Given the description of an element on the screen output the (x, y) to click on. 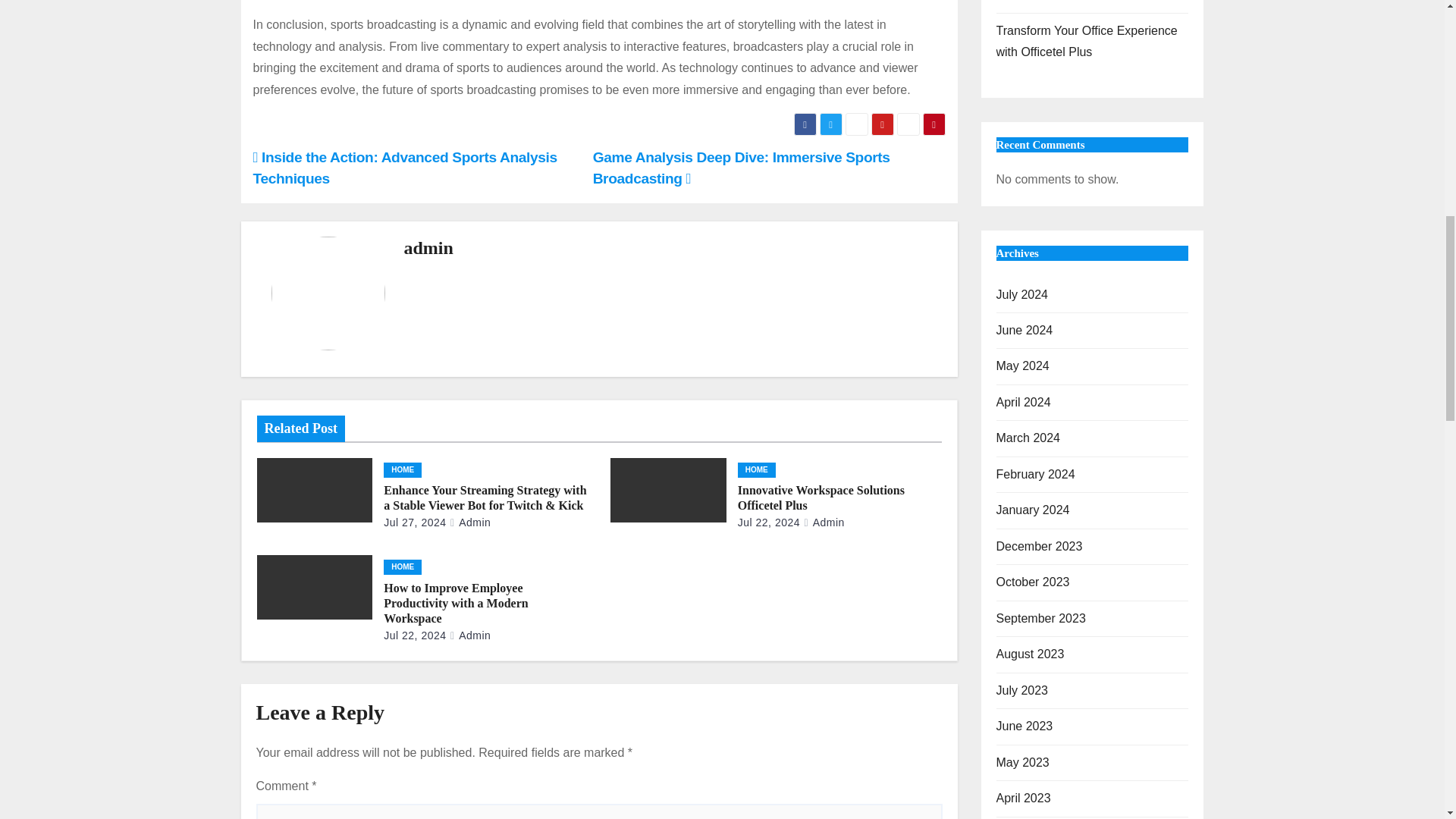
HOME (403, 469)
Inside the Action: Advanced Sports Analysis Techniques (405, 167)
Game Analysis Deep Dive: Immersive Sports Broadcasting (740, 167)
Admin (469, 522)
admin (427, 247)
Jul 27, 2024 (414, 522)
